Given the description of an element on the screen output the (x, y) to click on. 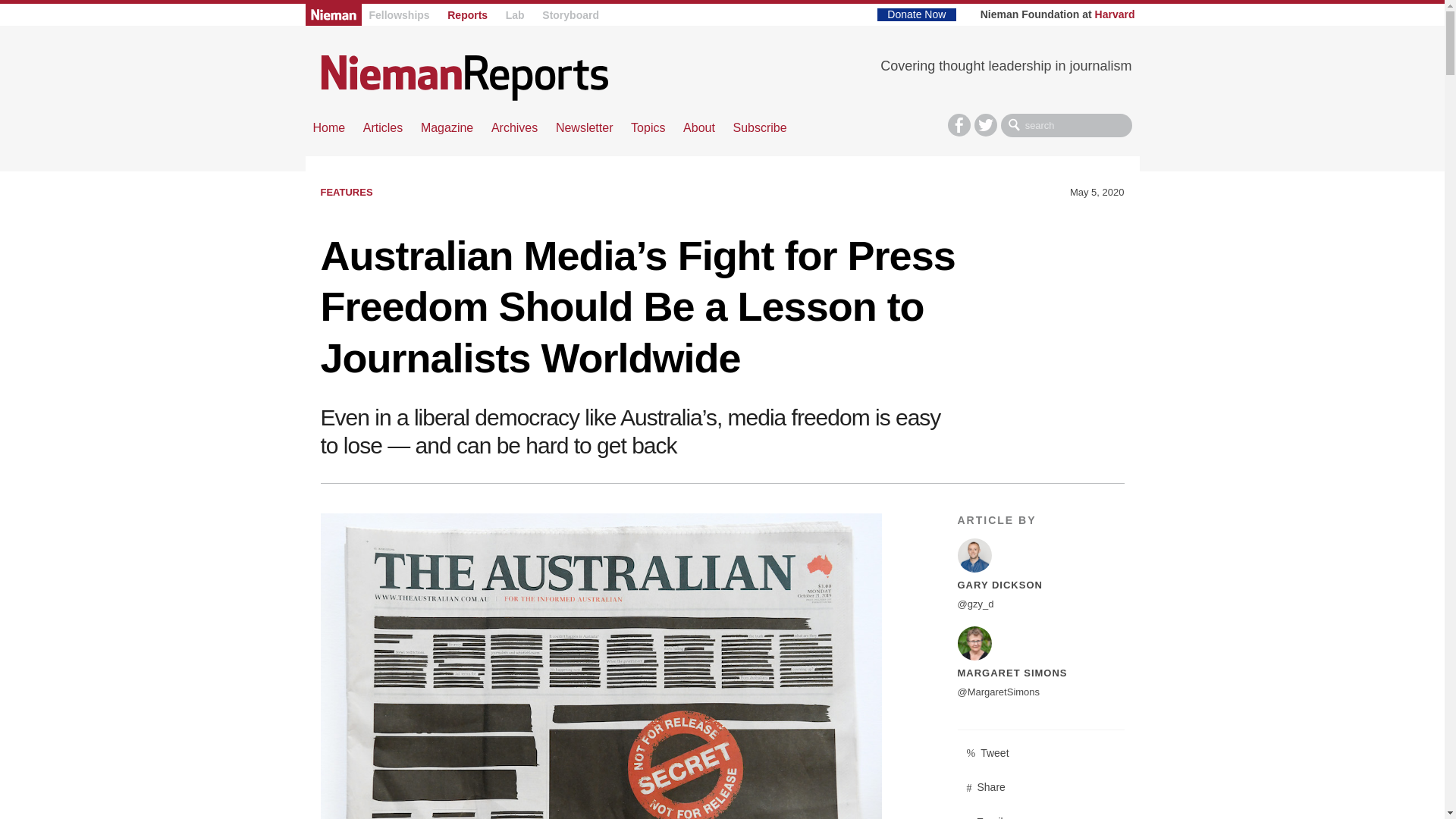
MARGARET SIMONS (1011, 672)
Home (464, 76)
Harvard (1114, 14)
Share (1040, 787)
Lab (514, 15)
Articles (382, 127)
Newsletter (584, 127)
About (698, 127)
GARY DICKSON (999, 584)
Type search term here (1066, 125)
FEATURES (346, 192)
Home (329, 127)
Nieman Foundation Home (332, 14)
T (985, 124)
Magazine (446, 127)
